Given the description of an element on the screen output the (x, y) to click on. 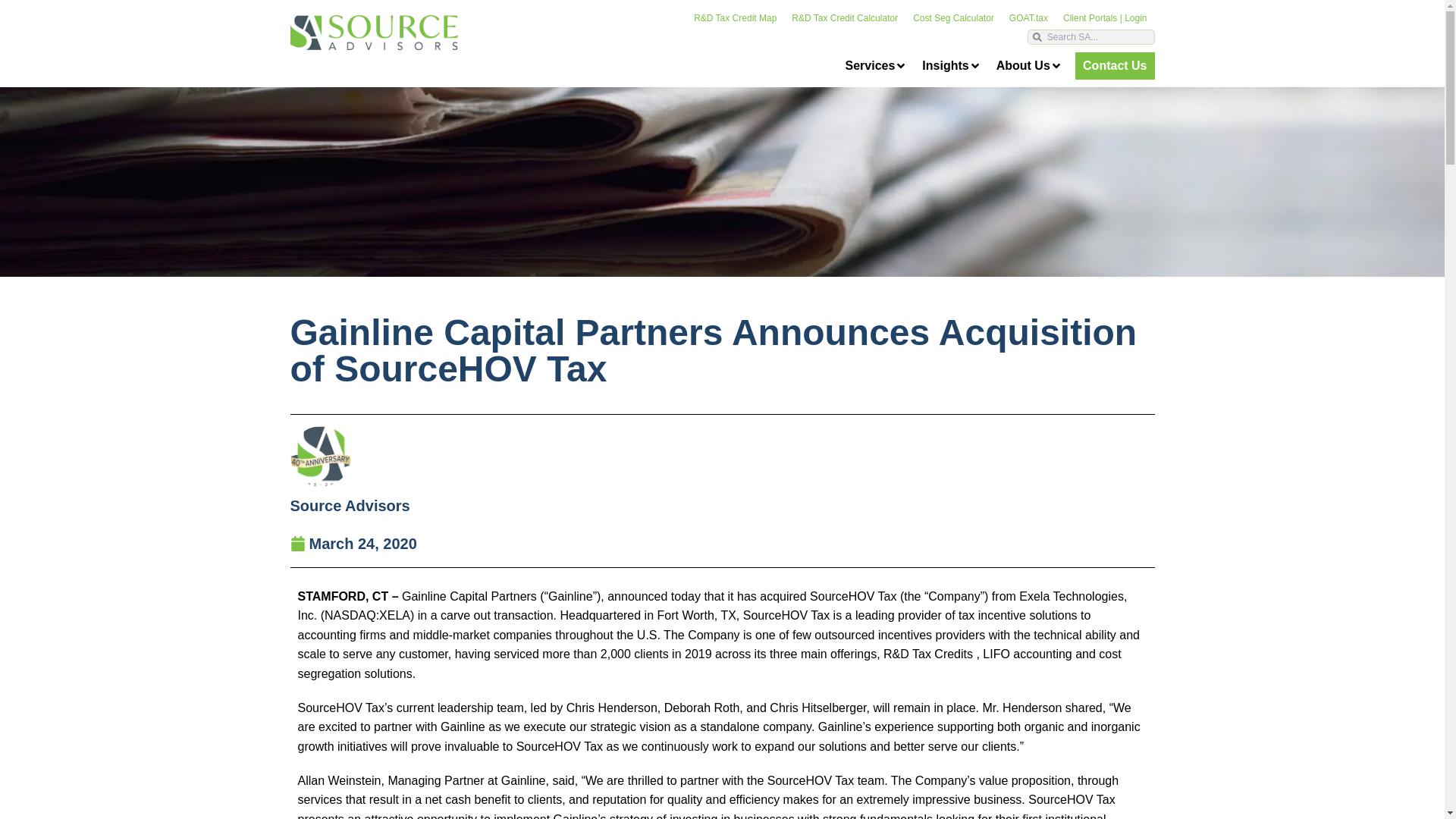
Cost Seg Calculator (953, 18)
Services (875, 66)
Source Advisors (349, 505)
Insights (950, 66)
About Us (1028, 66)
GOAT.tax (1028, 18)
